Given the description of an element on the screen output the (x, y) to click on. 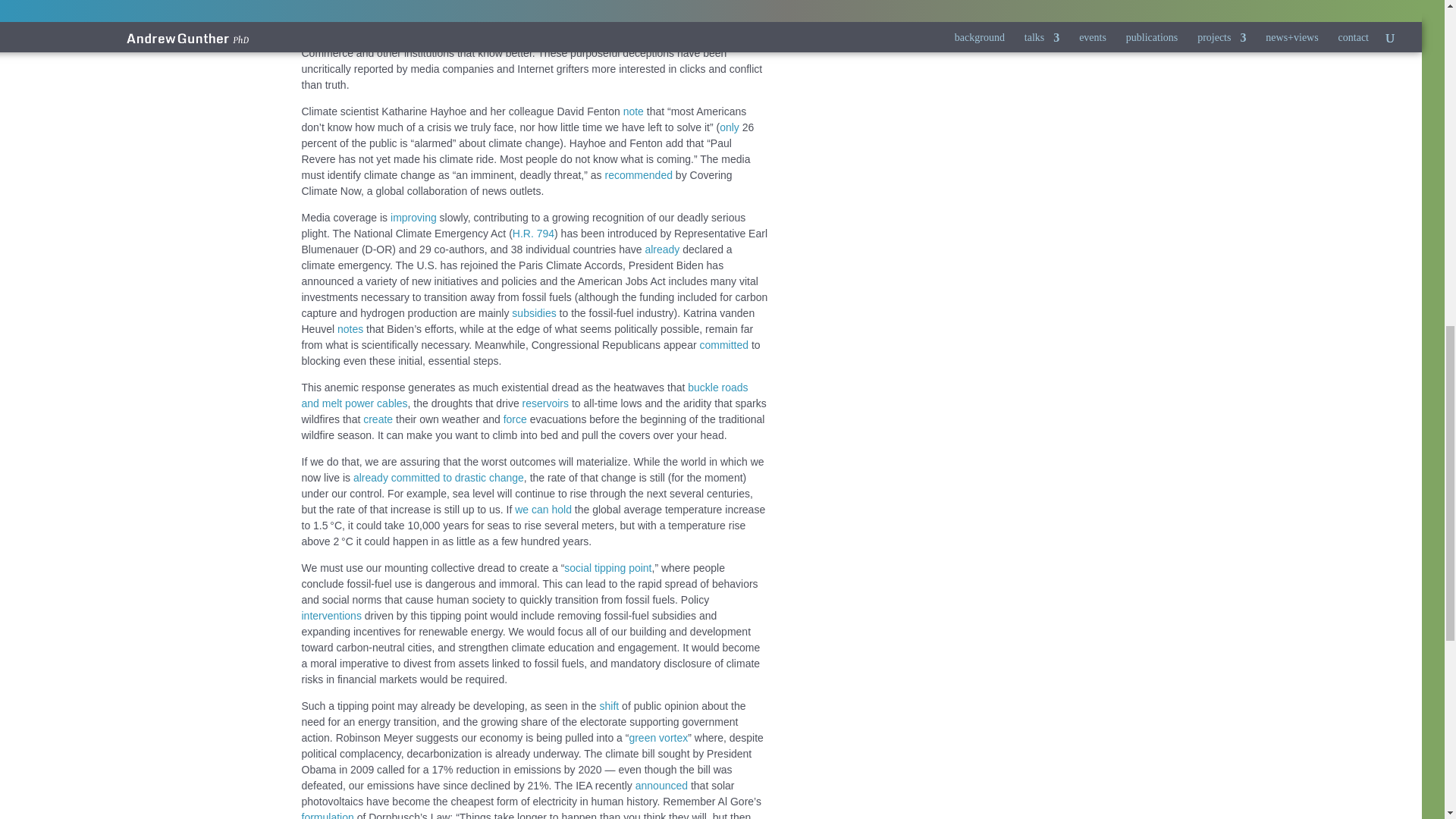
improving (413, 217)
recently called (568, 21)
only (729, 127)
nonsense (659, 5)
fostered doubt (507, 37)
experts (367, 21)
has (657, 37)
note (633, 111)
recommended (638, 174)
